Given the description of an element on the screen output the (x, y) to click on. 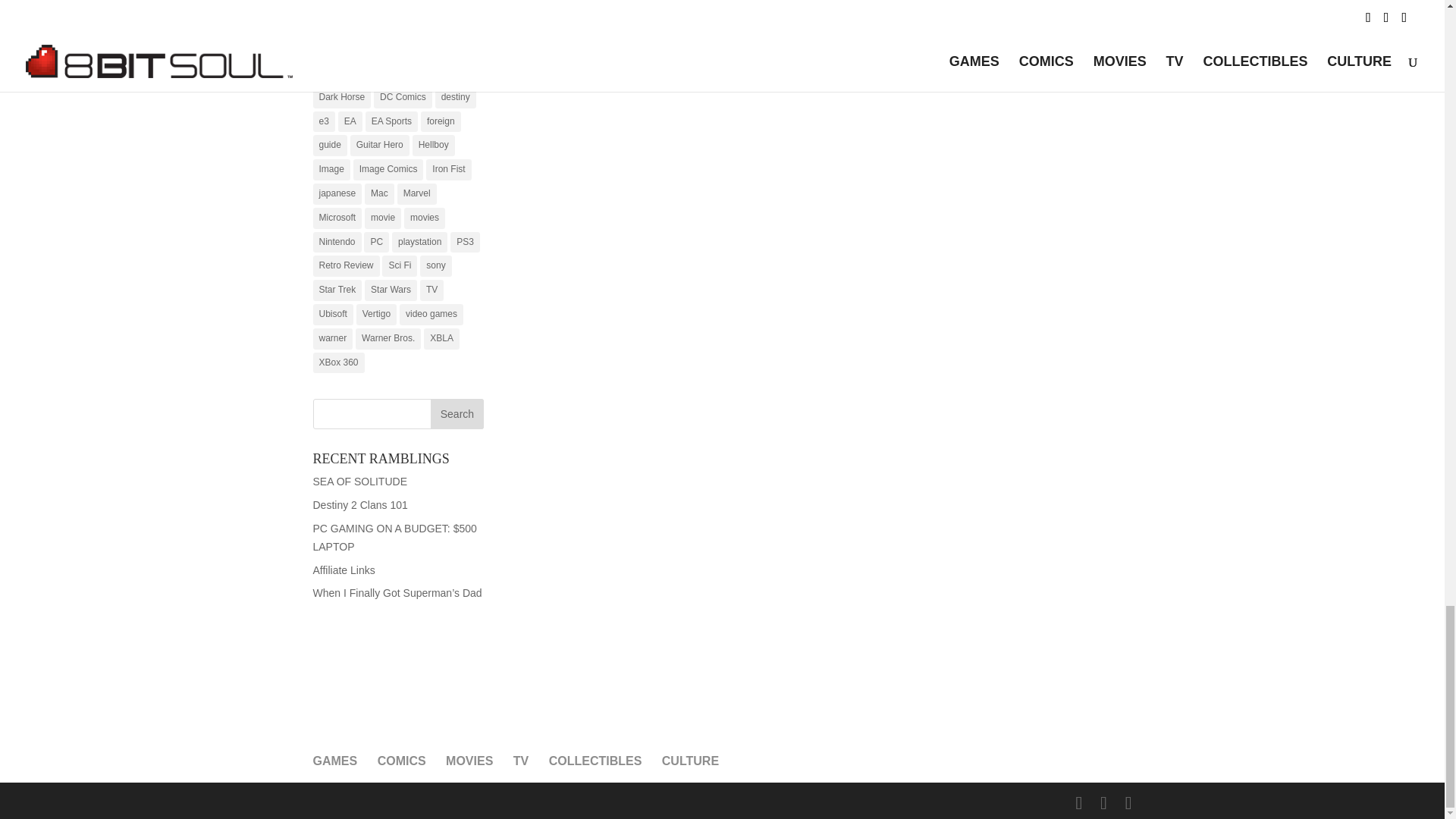
Search (456, 413)
Battlestar Galactica (358, 48)
Activision (377, 6)
anime (331, 25)
animation (431, 6)
destiny (455, 97)
action (331, 6)
DC Comics (403, 97)
e3 (323, 121)
comics books (389, 73)
